Given the description of an element on the screen output the (x, y) to click on. 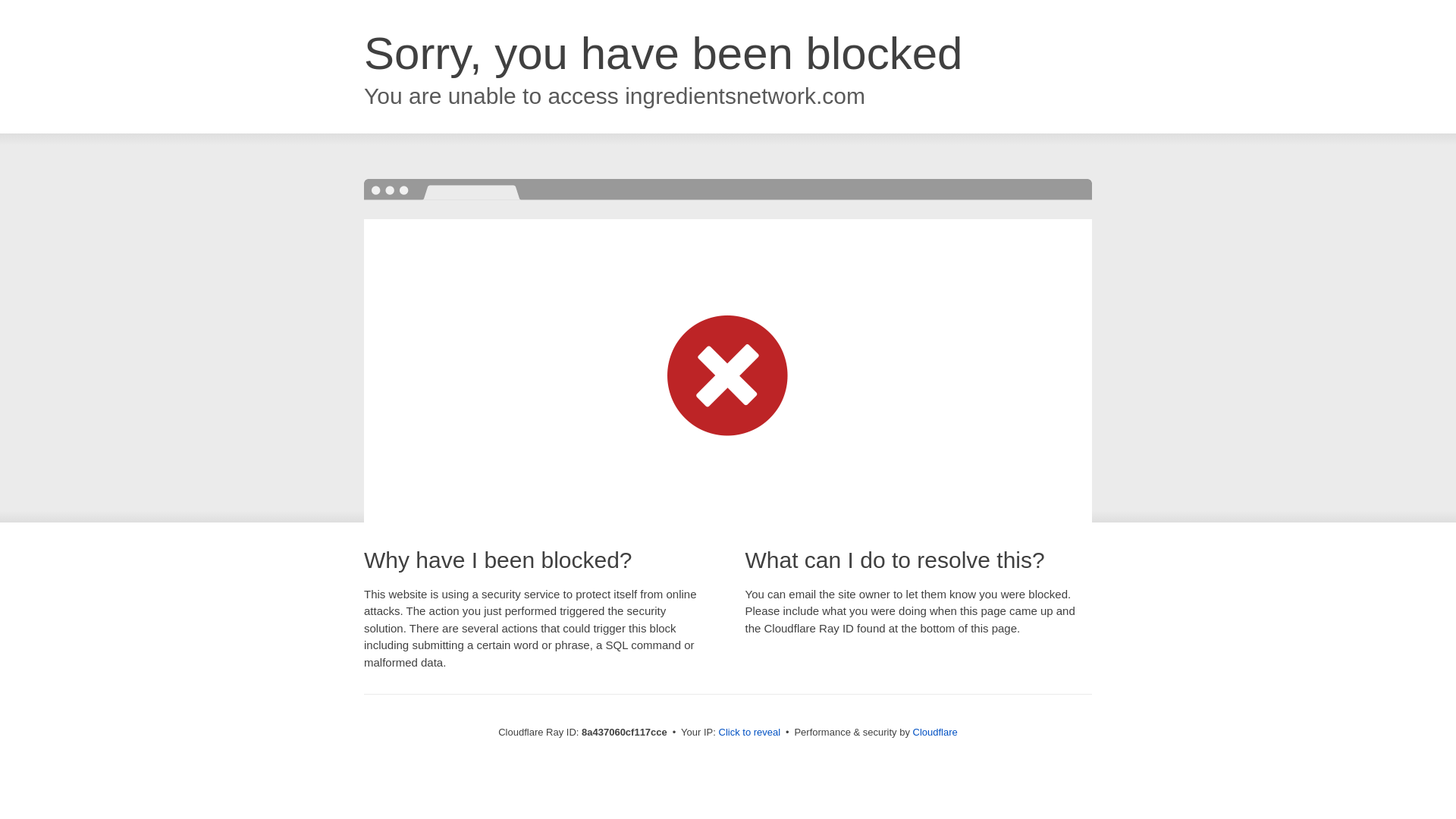
Click to reveal (749, 732)
Cloudflare (935, 731)
